Given the description of an element on the screen output the (x, y) to click on. 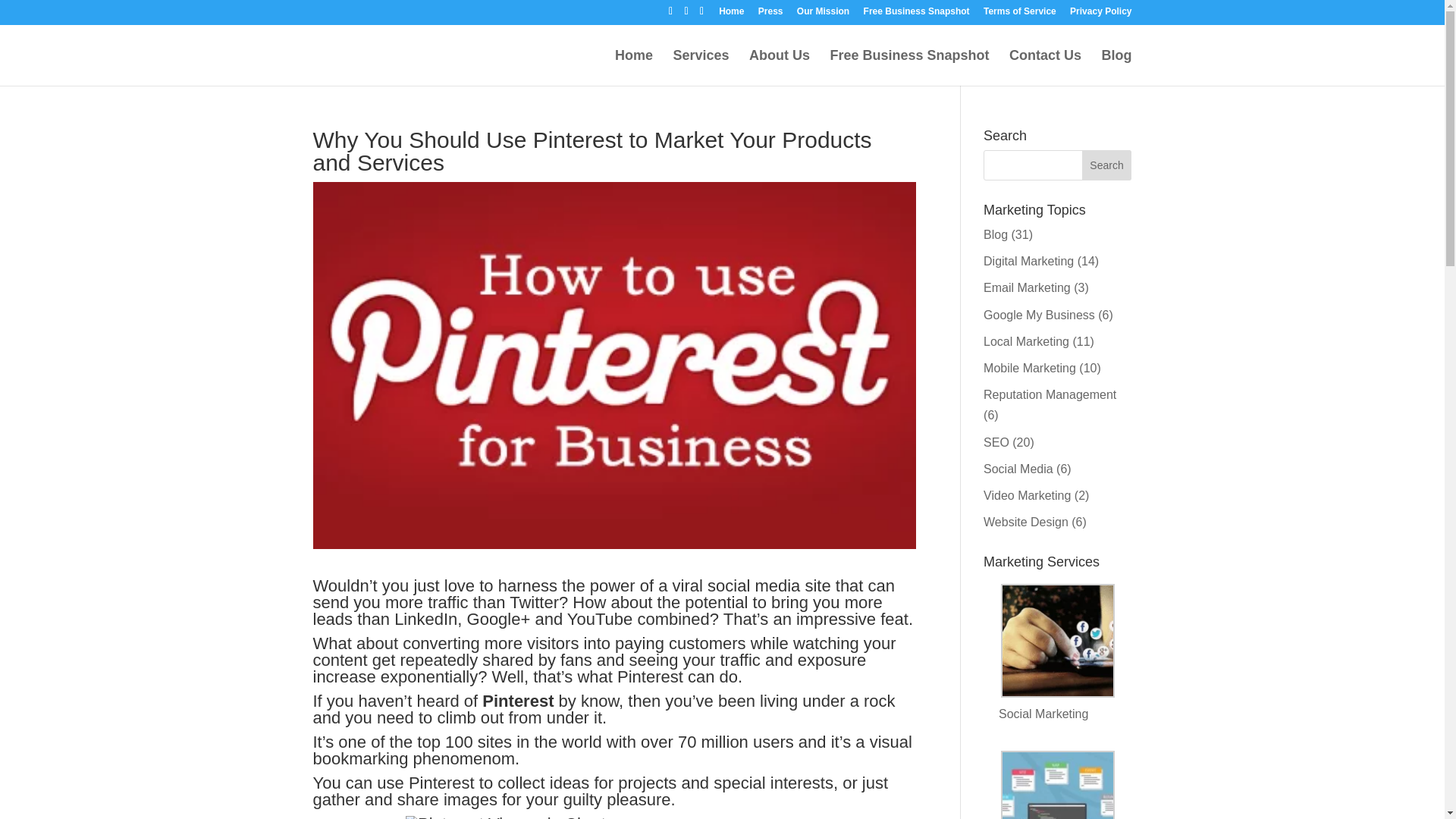
Free Business Snapshot (916, 14)
Privacy Policy (1100, 14)
Terms of Service (1020, 14)
About Us (779, 67)
Our Mission (822, 14)
Free Business Snapshot (909, 67)
Search (1106, 164)
Services (700, 67)
Press (770, 14)
Home (633, 67)
Contact Us (1045, 67)
Search (1106, 164)
Home (731, 14)
